Given the description of an element on the screen output the (x, y) to click on. 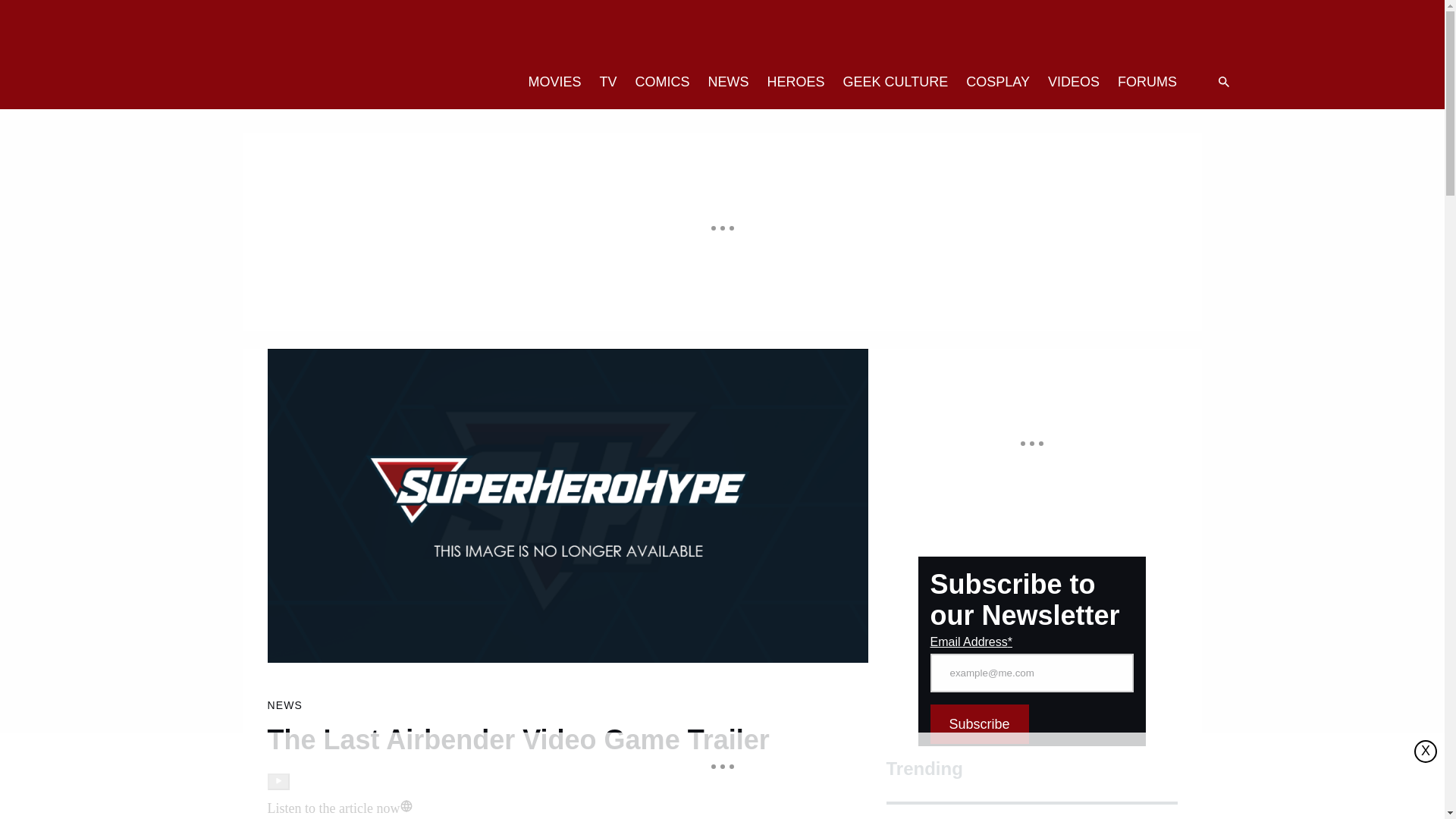
NEWS (283, 705)
Subscribe (978, 723)
VIDEOS (1073, 81)
Instagram (1161, 33)
GEEK CULTURE (896, 81)
FORUMS (1147, 81)
COMICS (662, 81)
MOVIES (553, 81)
COSPLAY (997, 81)
Facebook (1130, 33)
HEROES (796, 81)
Twitter (1101, 33)
NEWS (728, 81)
